Given the description of an element on the screen output the (x, y) to click on. 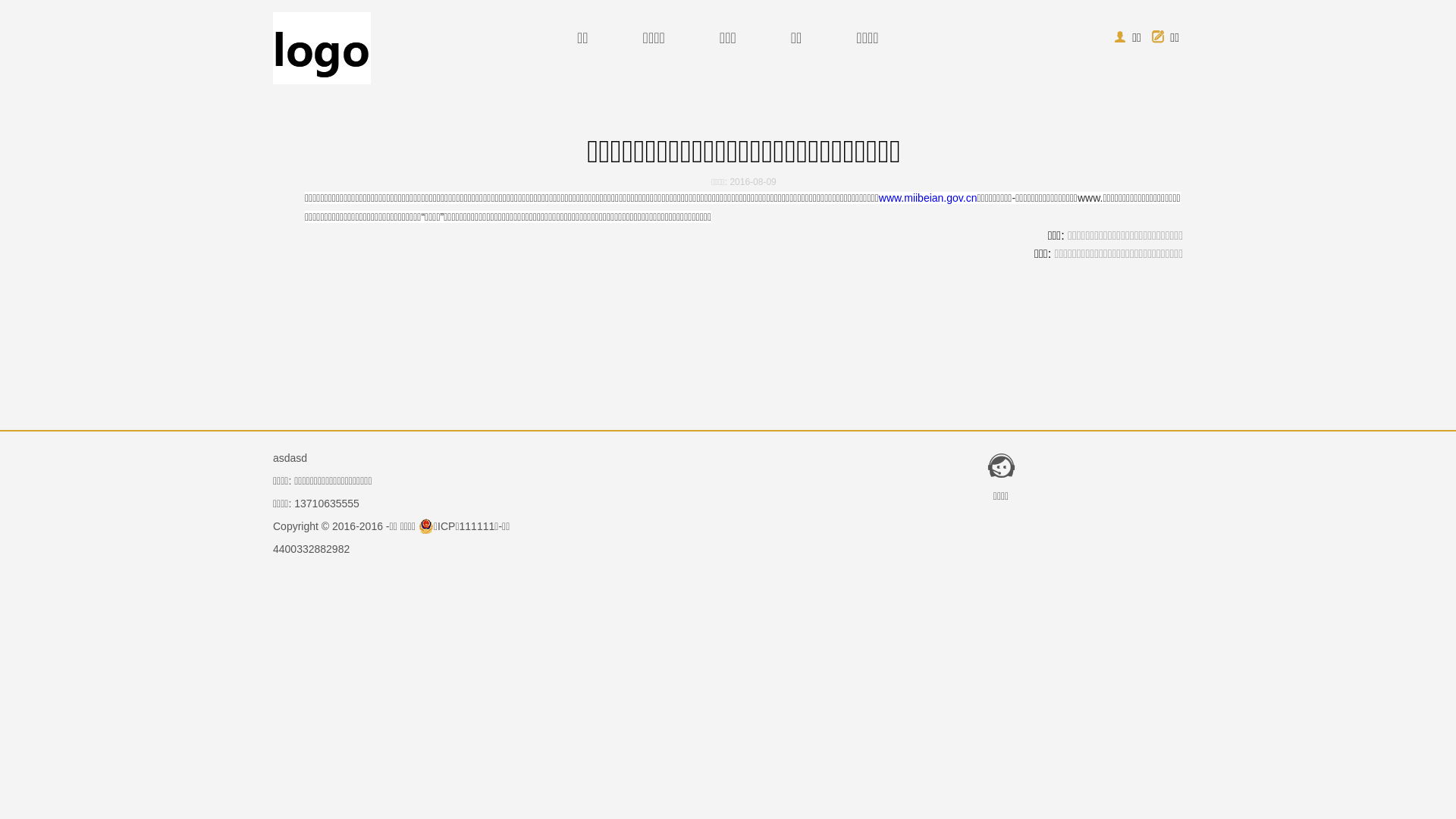
www.miibeian.gov.cn Element type: text (927, 197)
asdasd Element type: text (290, 457)
